Given the description of an element on the screen output the (x, y) to click on. 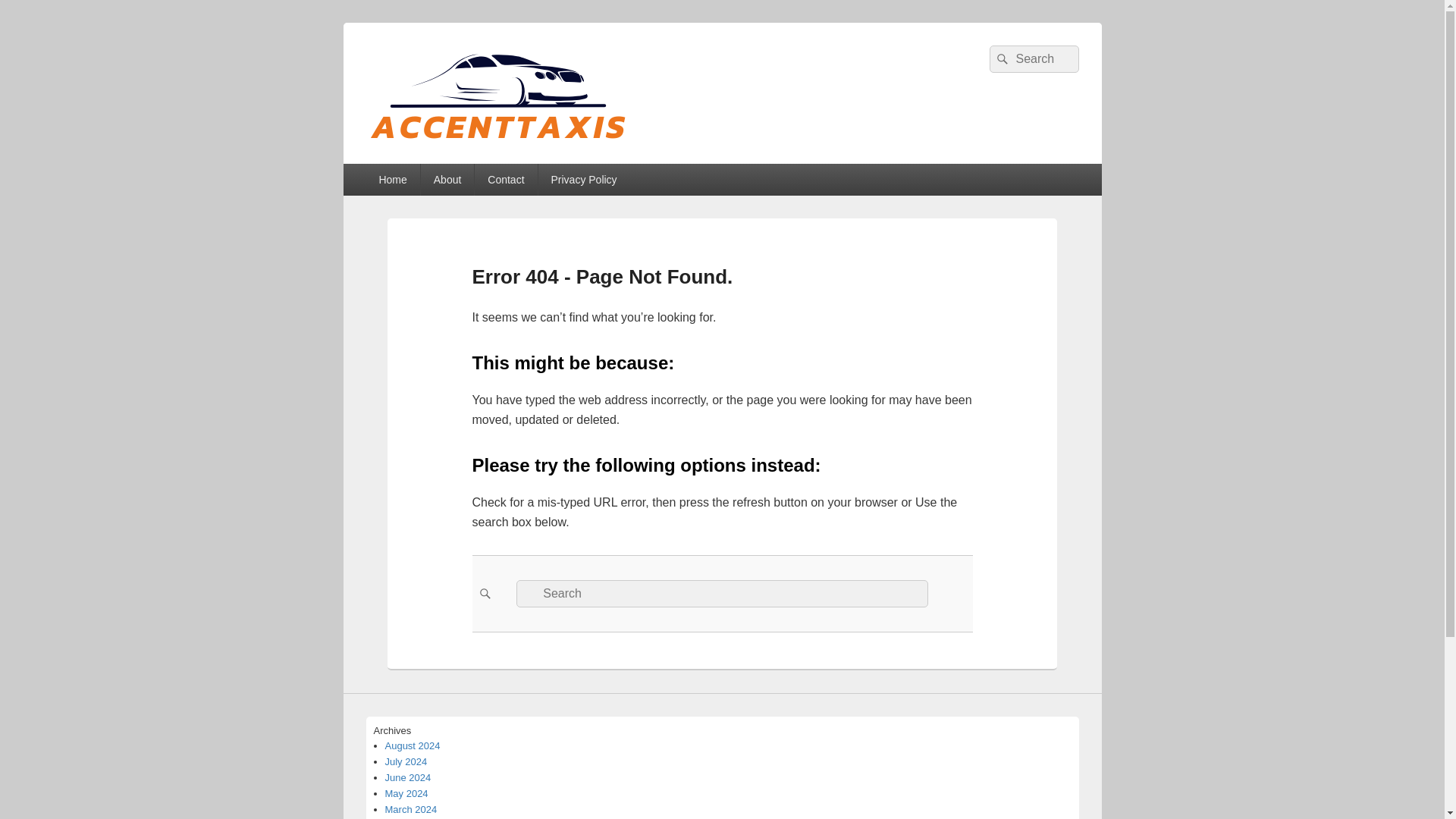
Contact (505, 179)
About (447, 179)
July 2024 (406, 761)
March 2024 (411, 808)
Search for: (722, 593)
Home (392, 179)
Search for: (1033, 58)
May 2024 (406, 793)
August 2024 (413, 745)
Privacy Policy (584, 179)
accenttaxis (439, 157)
June 2024 (407, 777)
